Given the description of an element on the screen output the (x, y) to click on. 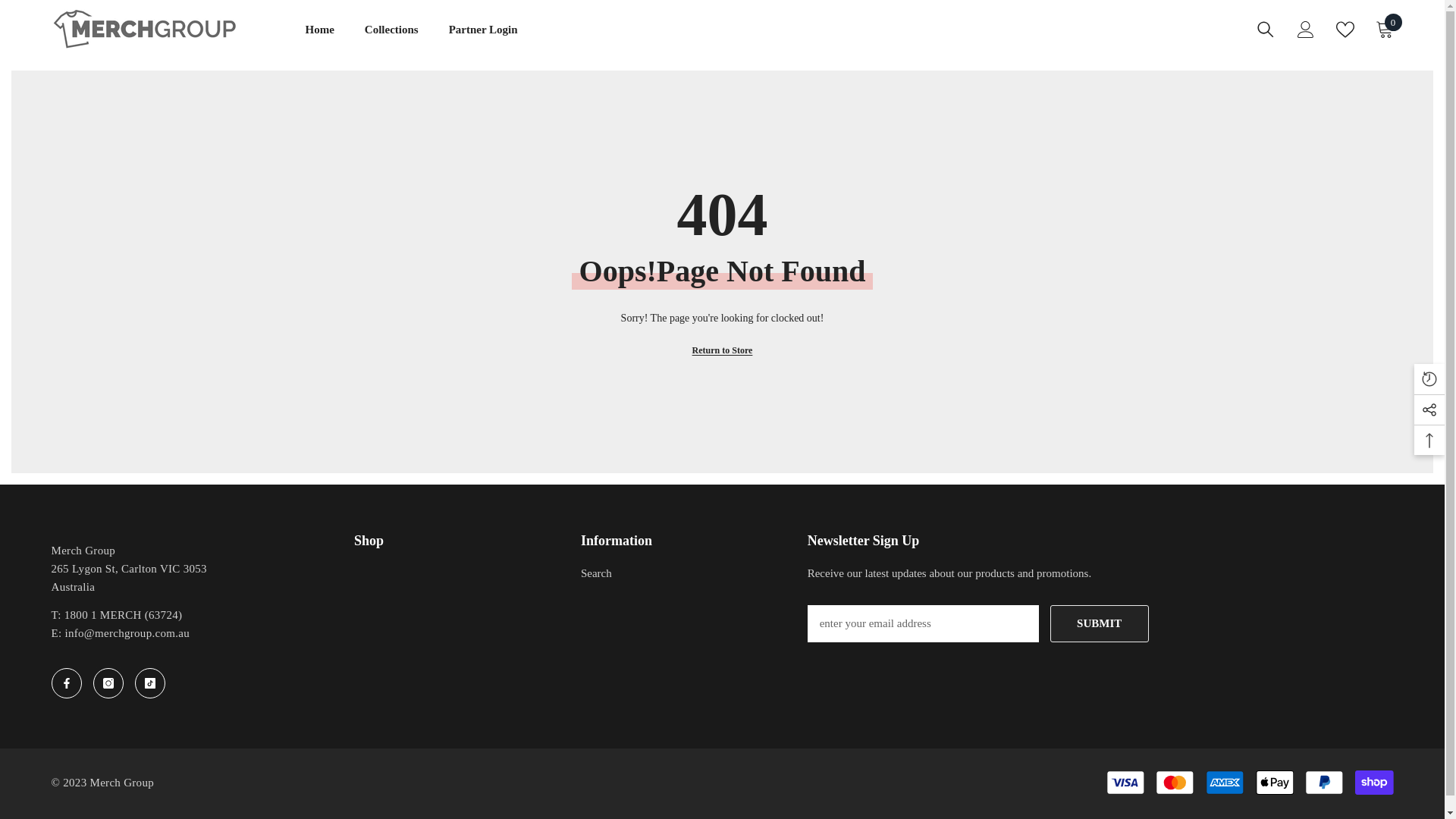
Search Element type: text (595, 573)
TikTok Element type: text (149, 683)
Collections Element type: text (391, 39)
Cart
0
0 items Element type: text (1384, 29)
Home Element type: text (318, 39)
Facebook Element type: text (66, 683)
info@merchgroup.com.au Element type: text (126, 633)
SUBMIT Element type: text (1099, 623)
Return to Store Element type: text (722, 350)
Partner Login Element type: text (483, 39)
1800 1 MERCH (63724) Element type: text (123, 614)
Instagram Element type: text (107, 683)
